Given the description of an element on the screen output the (x, y) to click on. 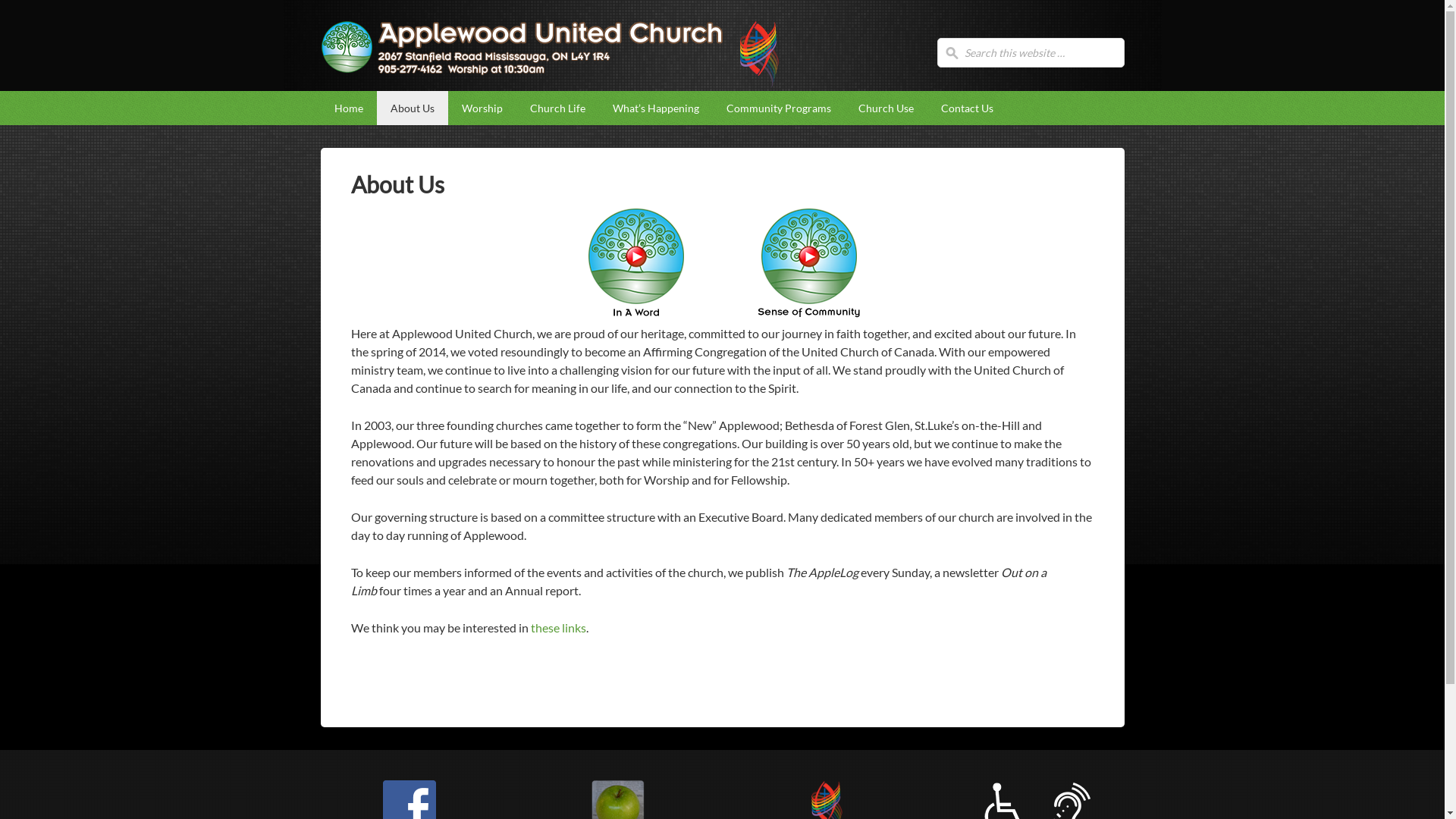
these links Element type: text (558, 627)
Click to play the video Element type: hover (808, 262)
Click to play the video Element type: hover (635, 262)
Search Element type: text (27, 15)
Applewood United Church Element type: text (521, 57)
